Given the description of an element on the screen output the (x, y) to click on. 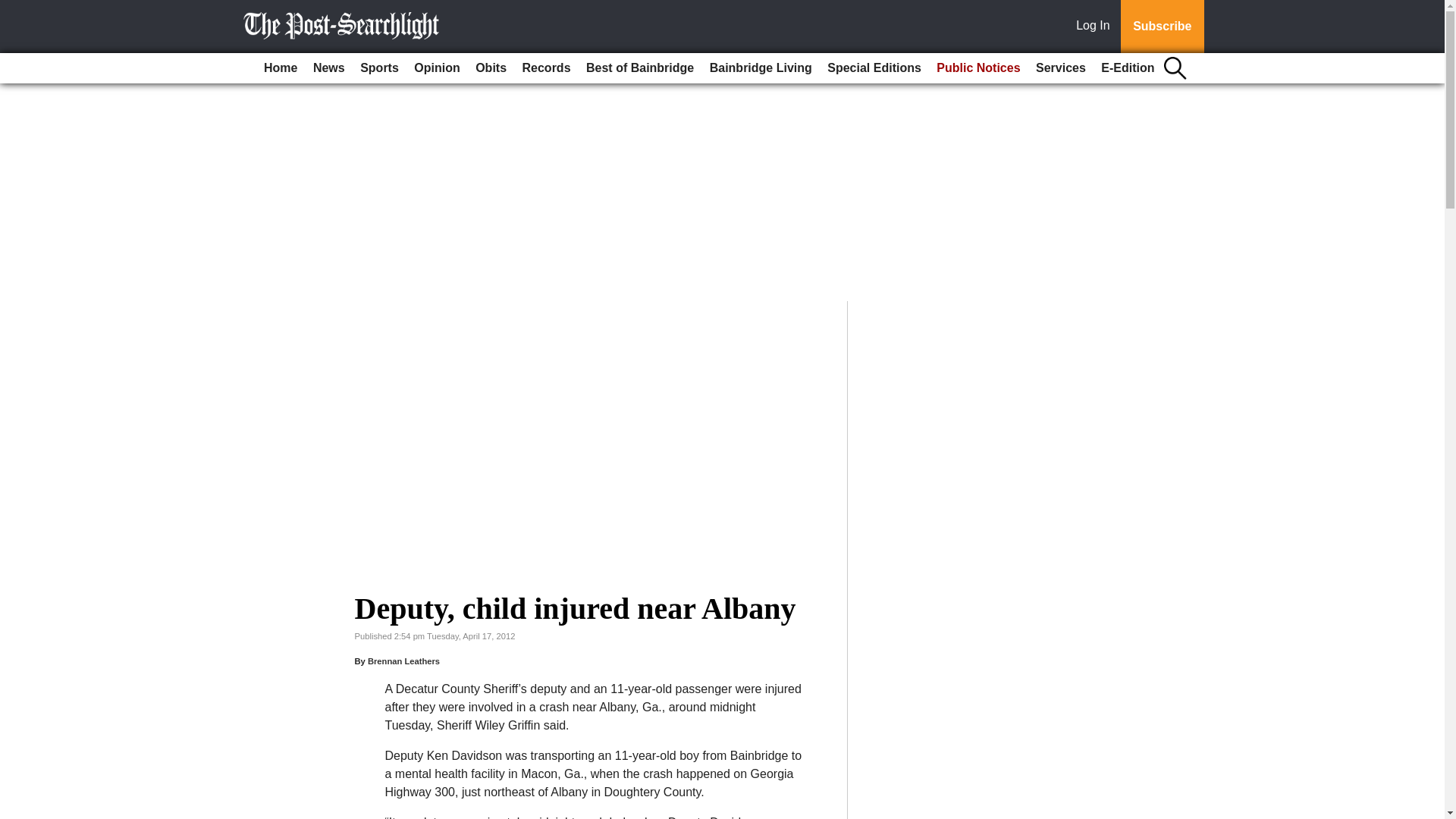
E-Edition (1127, 68)
Special Editions (874, 68)
Go (13, 9)
Brennan Leathers (403, 660)
Opinion (436, 68)
Subscribe (1162, 26)
Obits (490, 68)
Records (546, 68)
Sports (378, 68)
Services (1060, 68)
News (328, 68)
Bainbridge Living (760, 68)
Public Notices (978, 68)
Log In (1095, 26)
Home (279, 68)
